Given the description of an element on the screen output the (x, y) to click on. 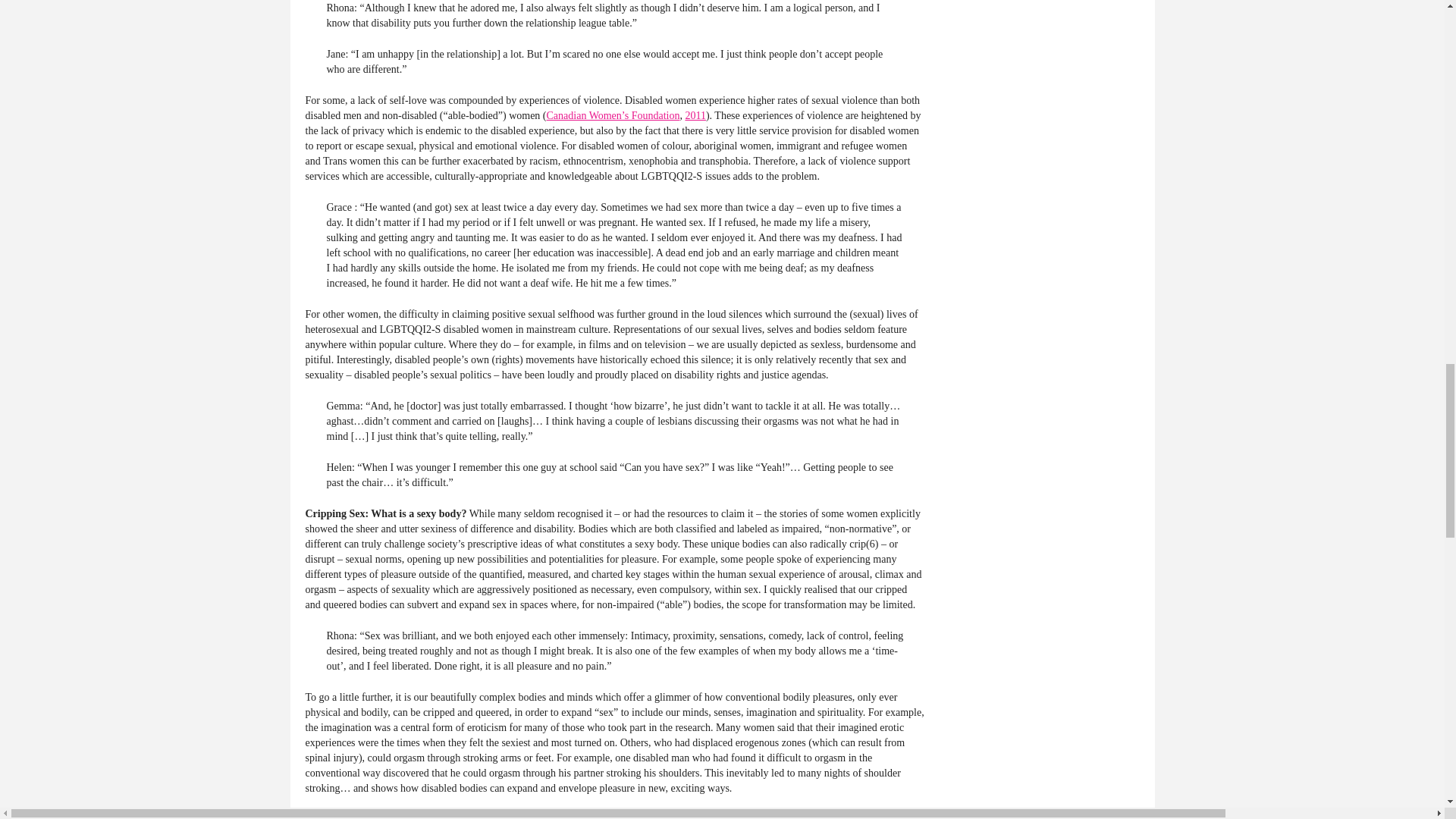
2011 (694, 115)
